Given the description of an element on the screen output the (x, y) to click on. 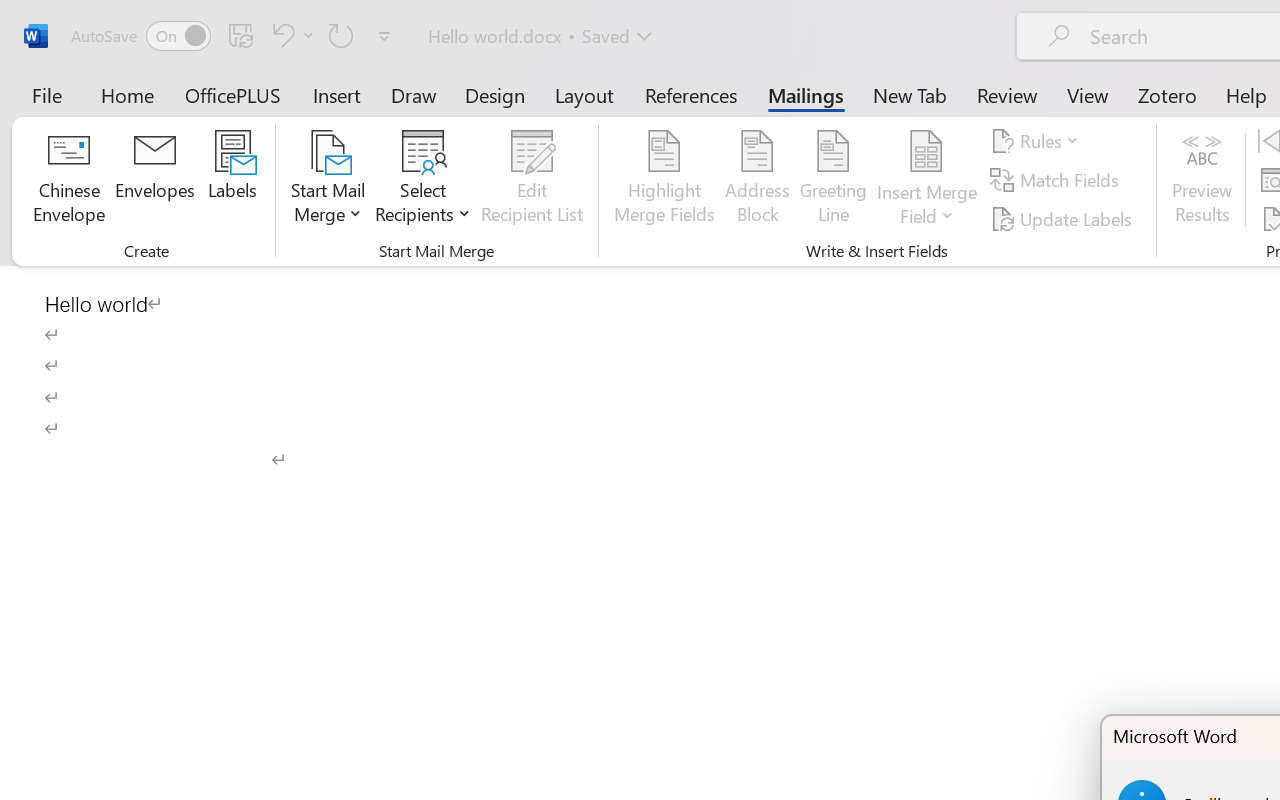
Update Labels (1064, 218)
View (1087, 94)
AutoSave (140, 35)
Review (1007, 94)
Address Block... (757, 179)
Can't Repeat (341, 35)
Envelopes... (155, 179)
Layout (584, 94)
Undo Click and Type Formatting (290, 35)
Insert Merge Field (927, 151)
Customize Quick Access Toolbar (384, 35)
Labels... (232, 179)
Greeting Line... (833, 179)
Save (241, 35)
Draw (413, 94)
